Given the description of an element on the screen output the (x, y) to click on. 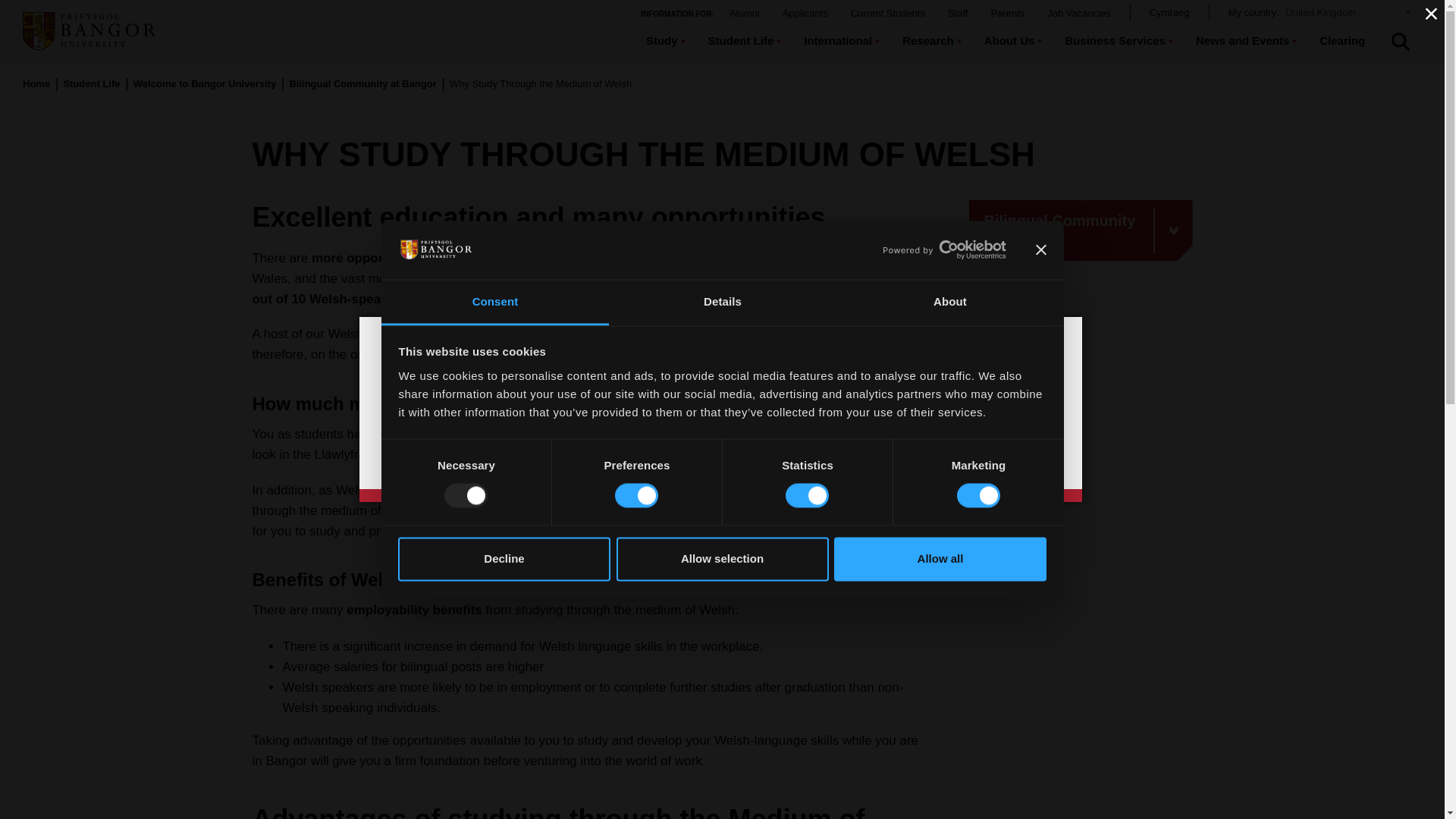
About (948, 302)
Consent (494, 302)
Details (721, 302)
